Given the description of an element on the screen output the (x, y) to click on. 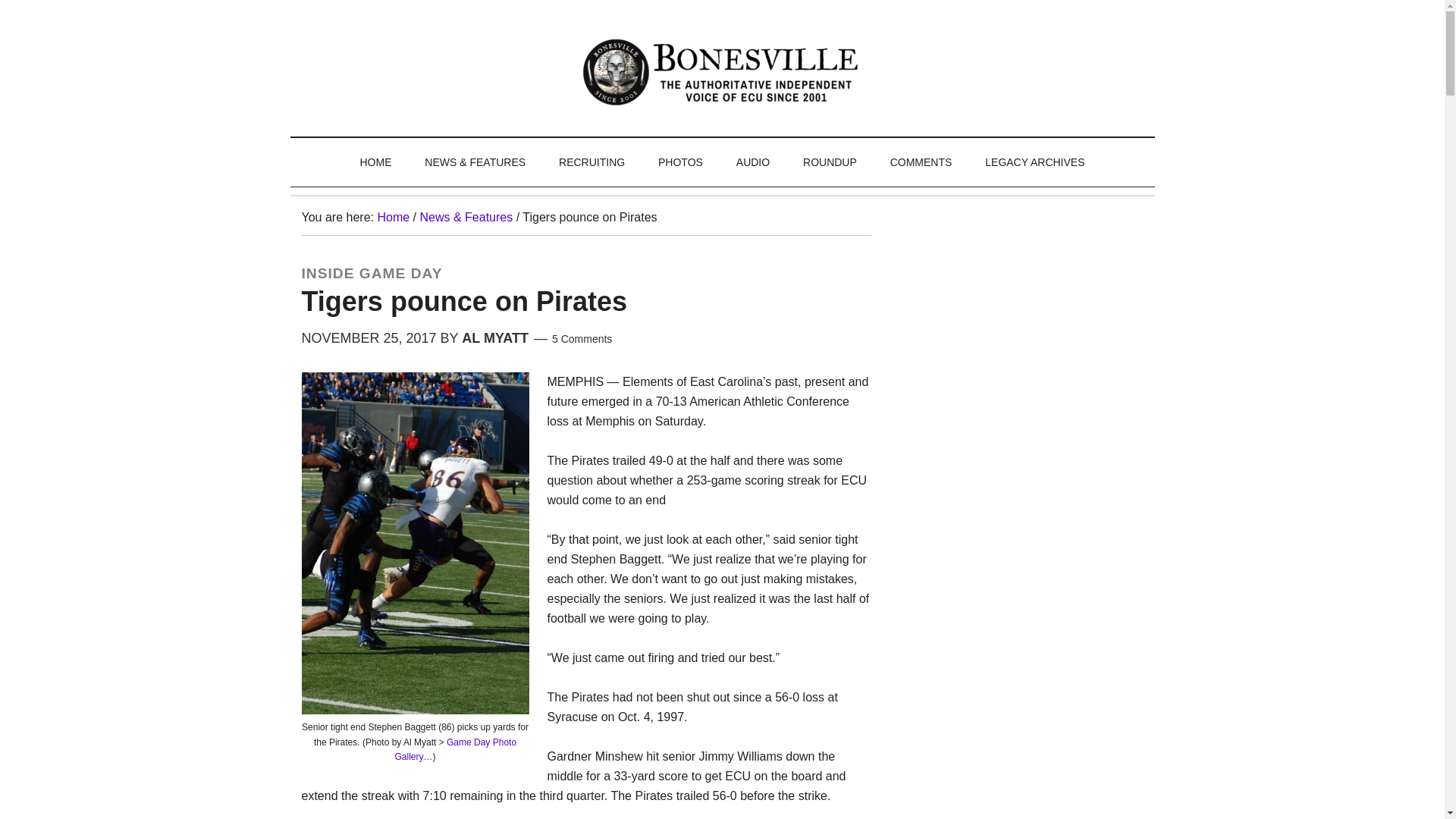
LEGACY ARCHIVES (1034, 162)
AUDIO (752, 162)
Bonesville: The Authoritative Independent Voice of ECU (724, 71)
PHOTOS (680, 162)
5 Comments (581, 338)
ROUNDUP (829, 162)
AL MYATT (494, 337)
HOME (374, 162)
RECRUITING (591, 162)
Home (393, 216)
